Given the description of an element on the screen output the (x, y) to click on. 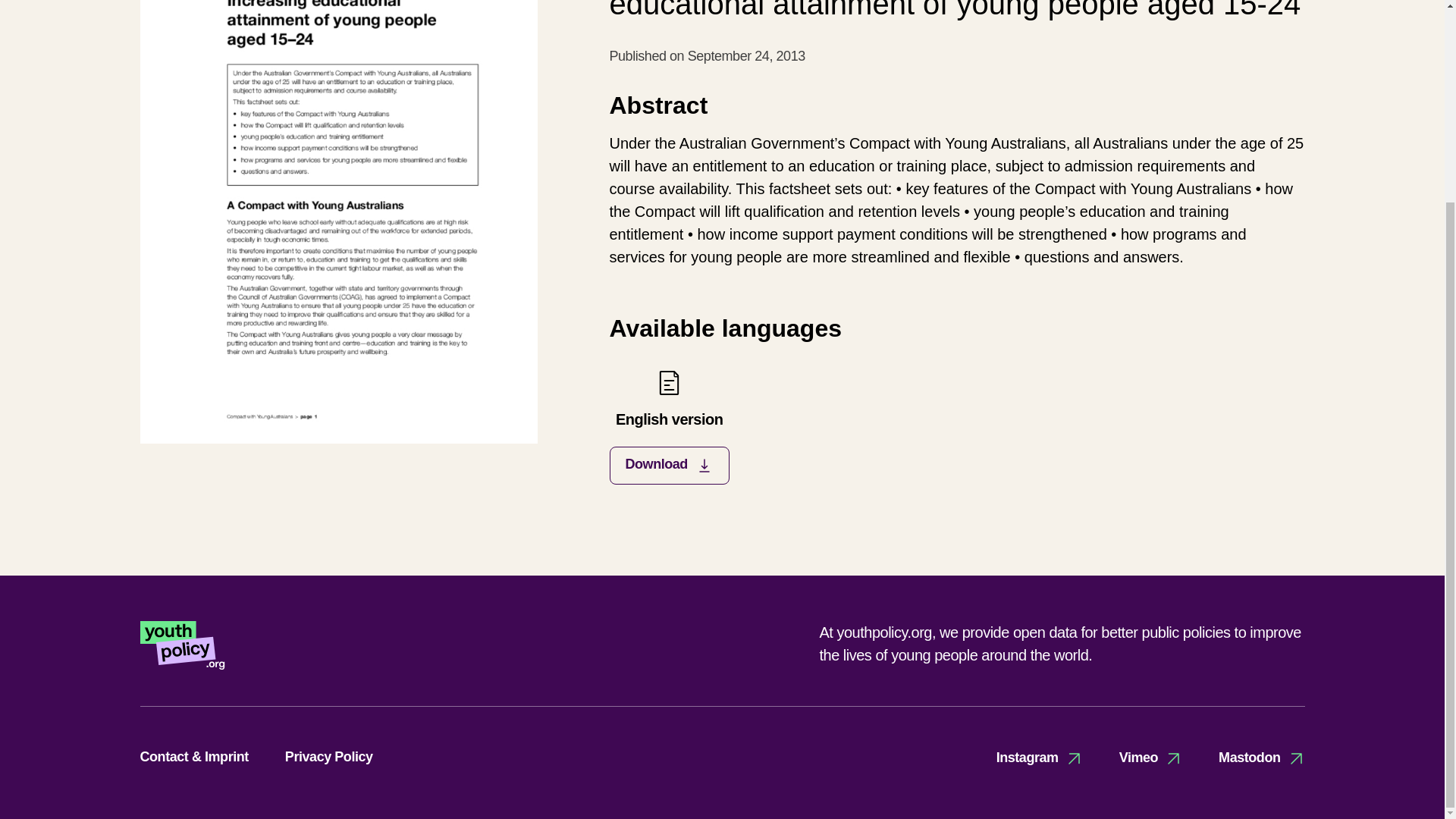
Instagram (1039, 757)
Privacy Policy (669, 425)
Mastodon (328, 757)
Vimeo (1261, 757)
